Given the description of an element on the screen output the (x, y) to click on. 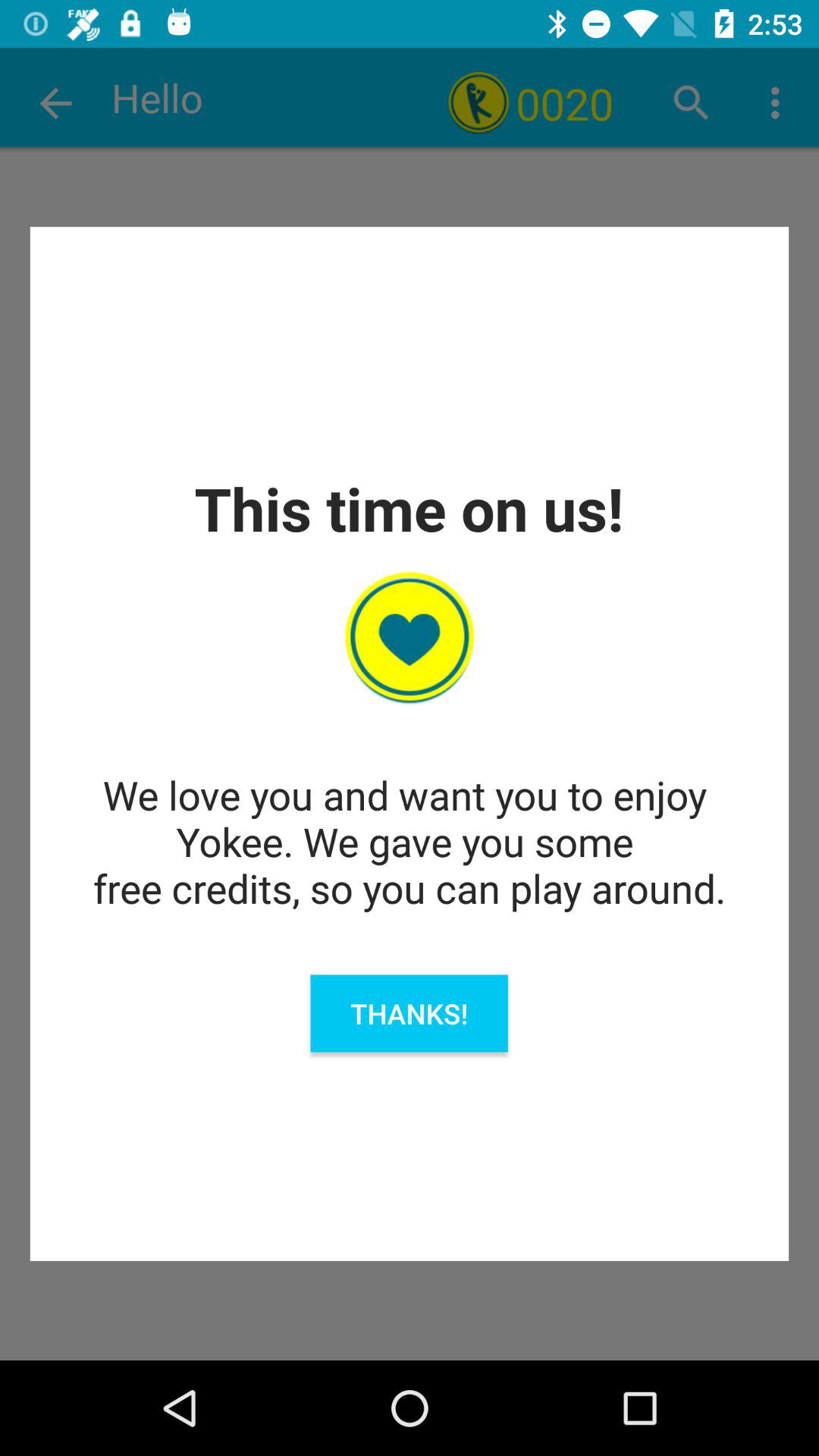
scroll until thanks! icon (408, 1013)
